Given the description of an element on the screen output the (x, y) to click on. 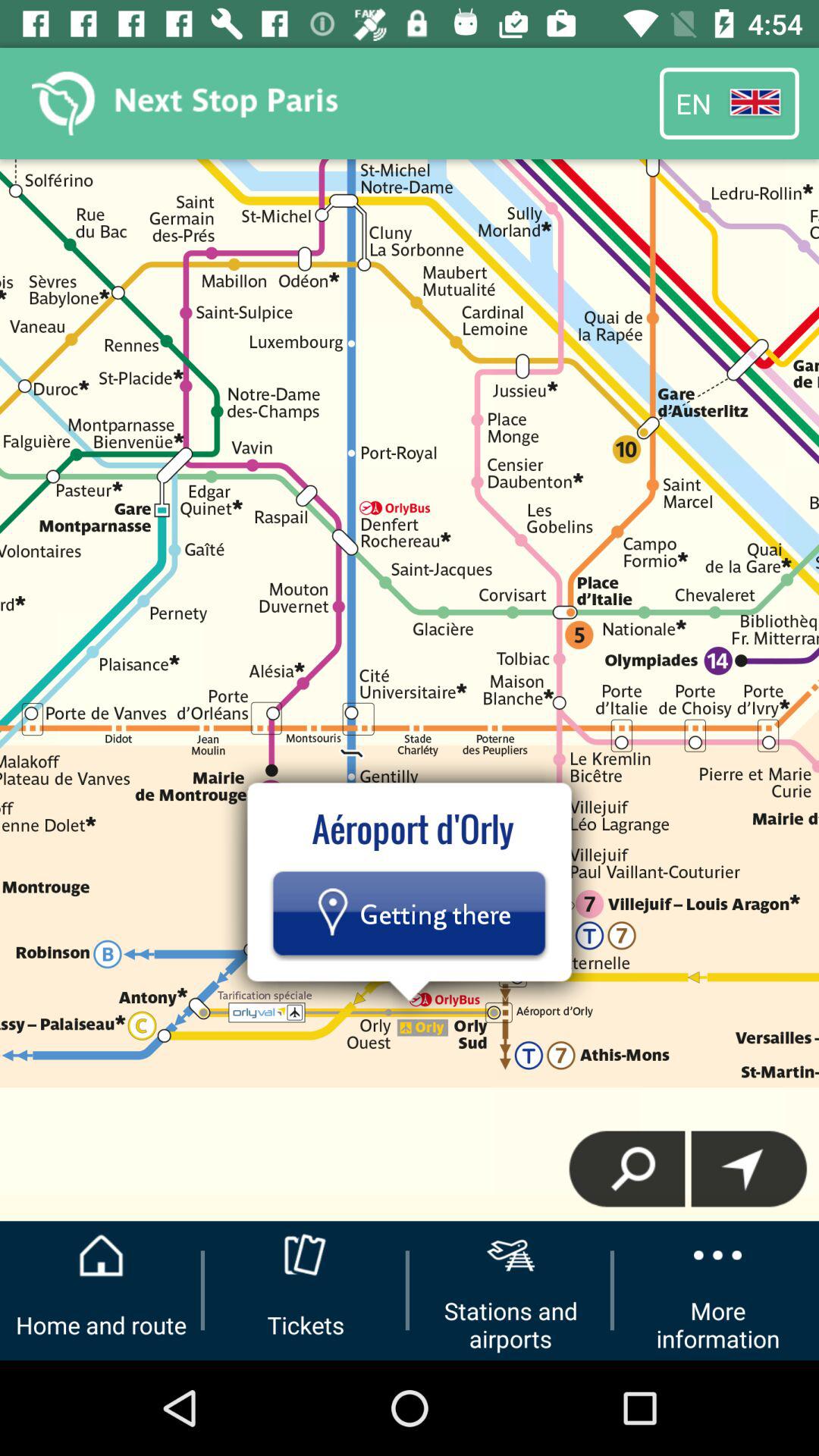
swipe until the getting there icon (409, 913)
